Given the description of an element on the screen output the (x, y) to click on. 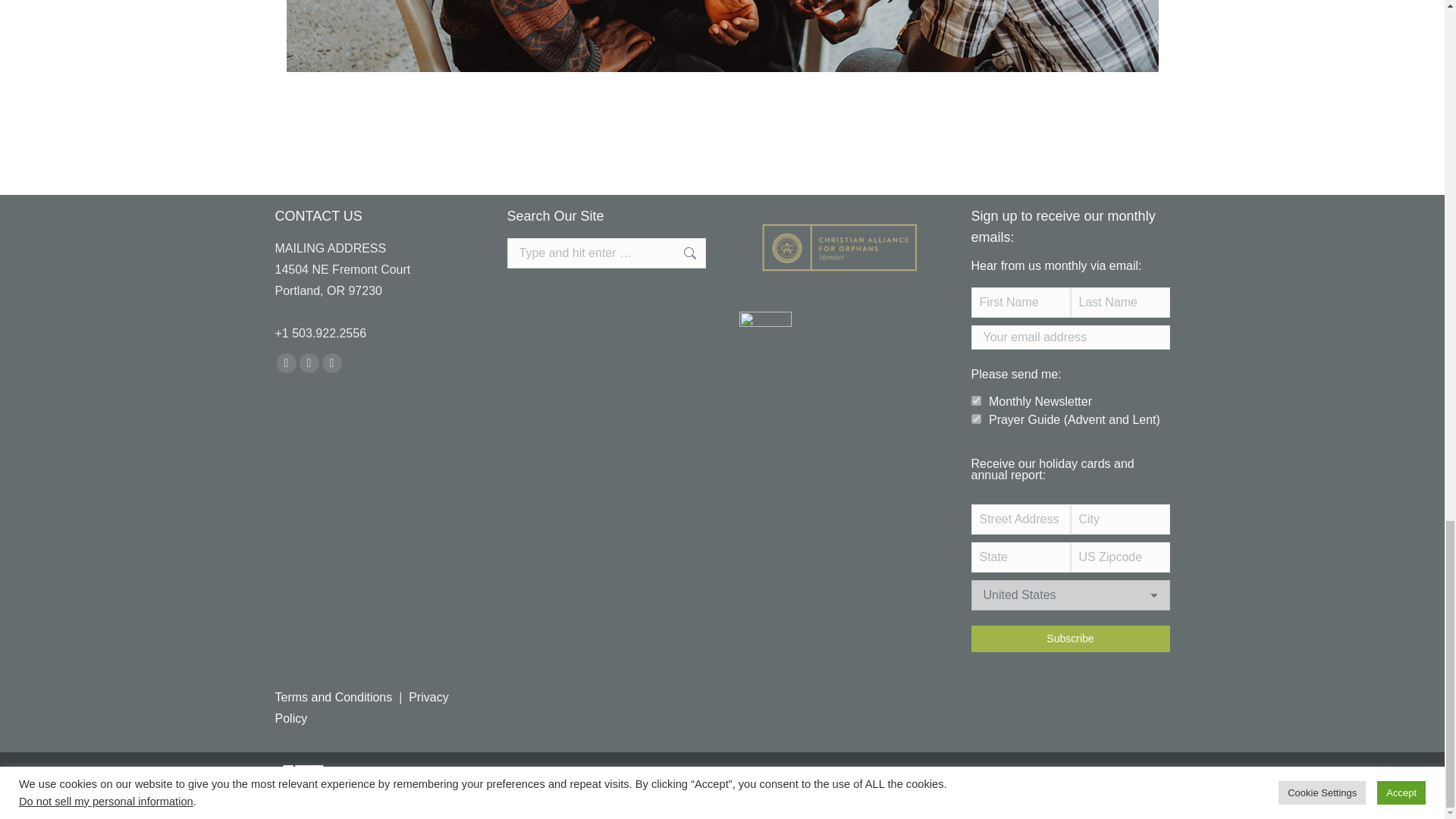
SocialInnovators3 (722, 36)
